Given the description of an element on the screen output the (x, y) to click on. 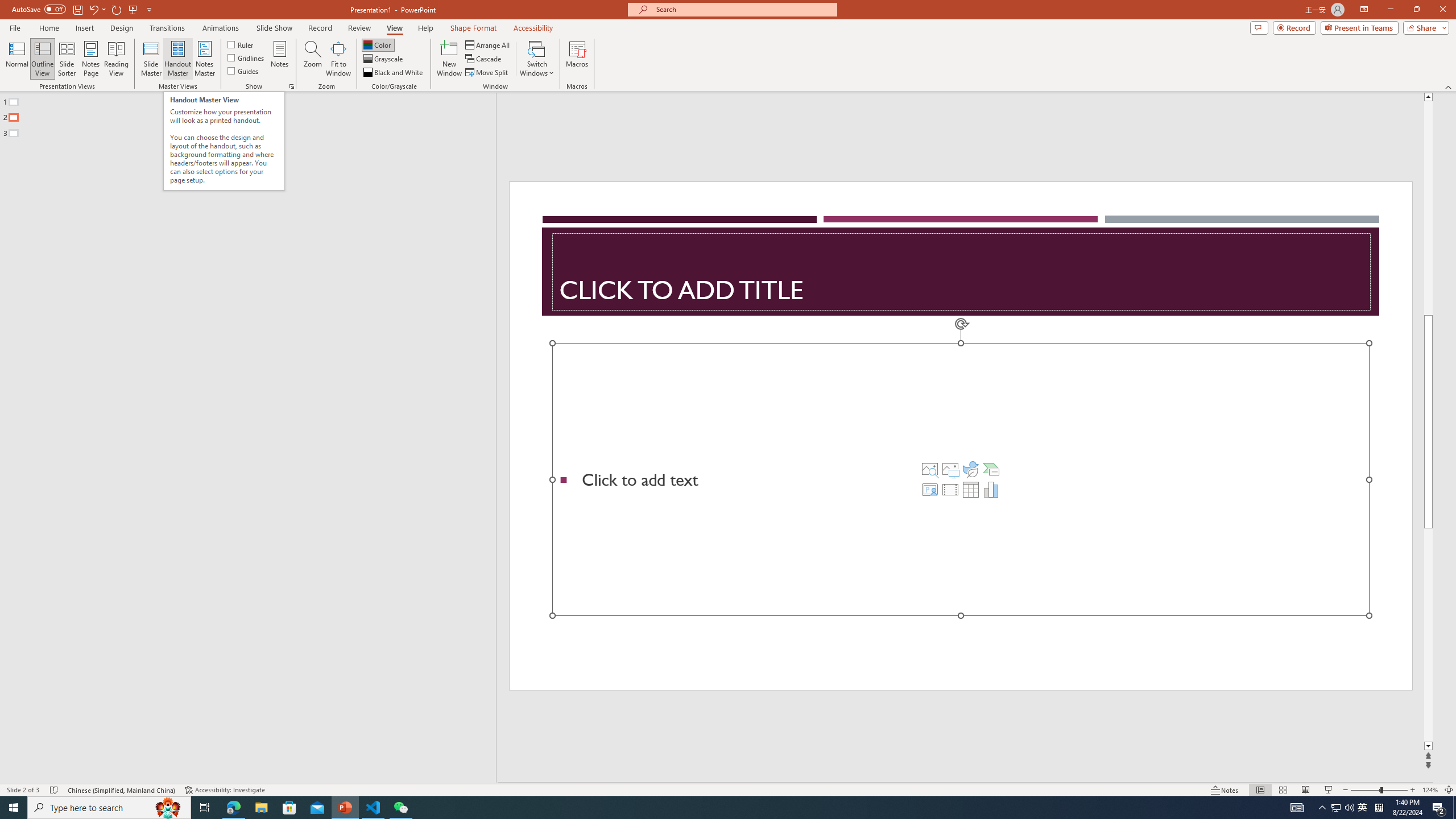
Black and White (393, 72)
Guides (243, 69)
Macros (576, 58)
